Given the description of an element on the screen output the (x, y) to click on. 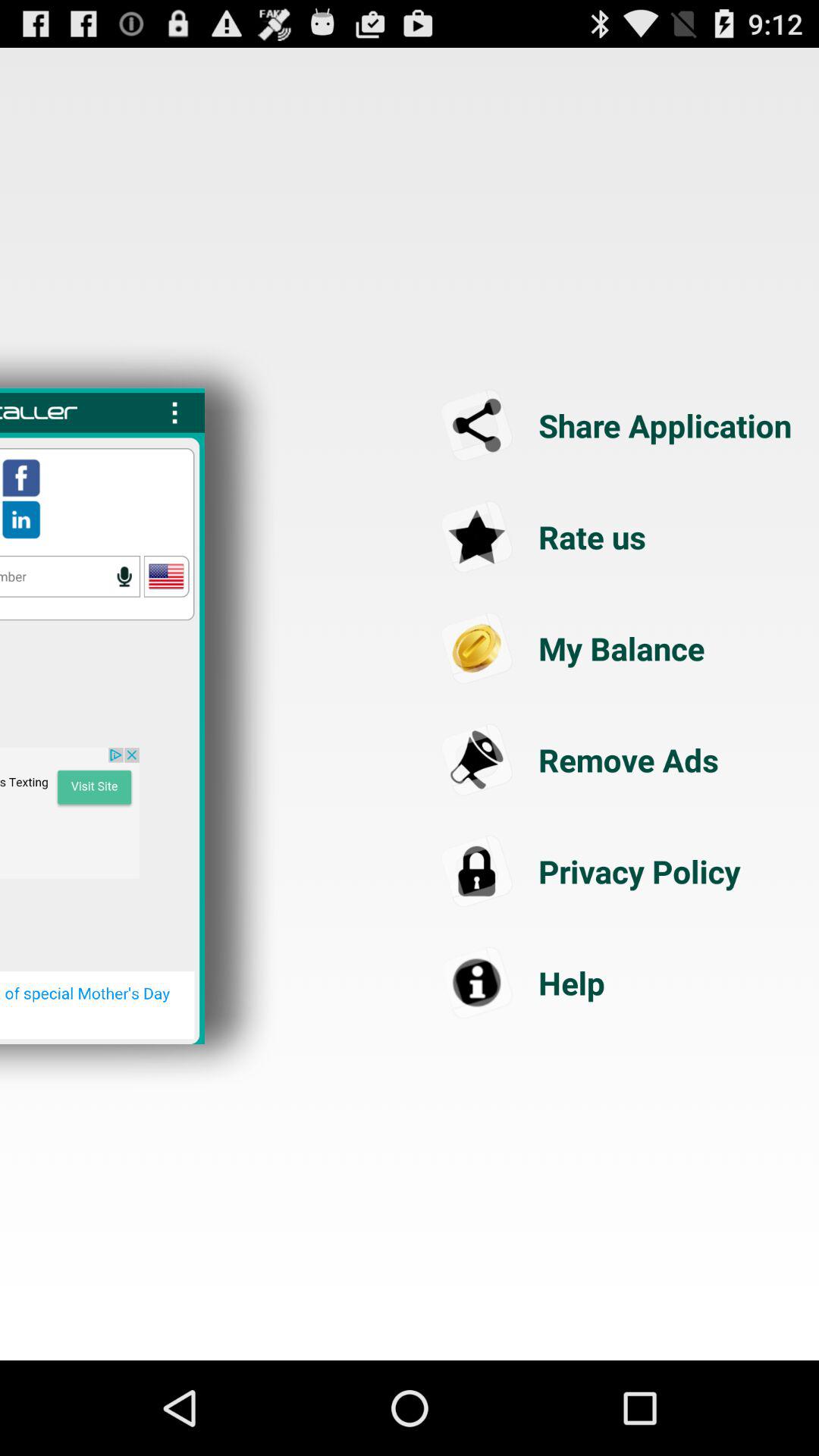
click usa (166, 576)
